Given the description of an element on the screen output the (x, y) to click on. 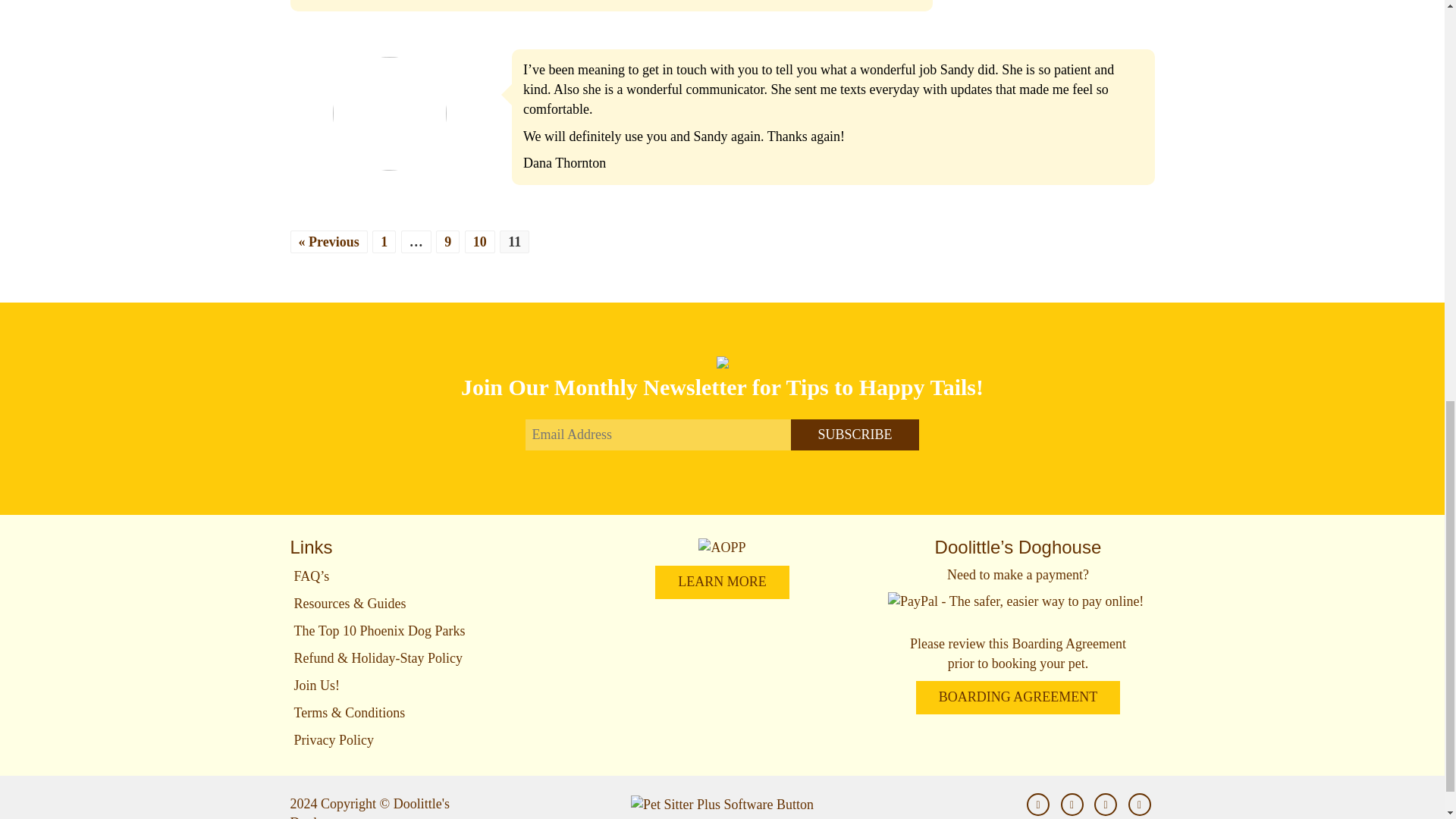
10 (479, 241)
Join Us! (425, 685)
BOARDING AGREEMENT (1018, 697)
9 (447, 241)
Subscribe (854, 434)
LEARN MORE (722, 581)
Subscribe (854, 434)
1 (384, 241)
Privacy Policy (425, 740)
The Top 10 Phoenix Dog Parks (425, 630)
